Given the description of an element on the screen output the (x, y) to click on. 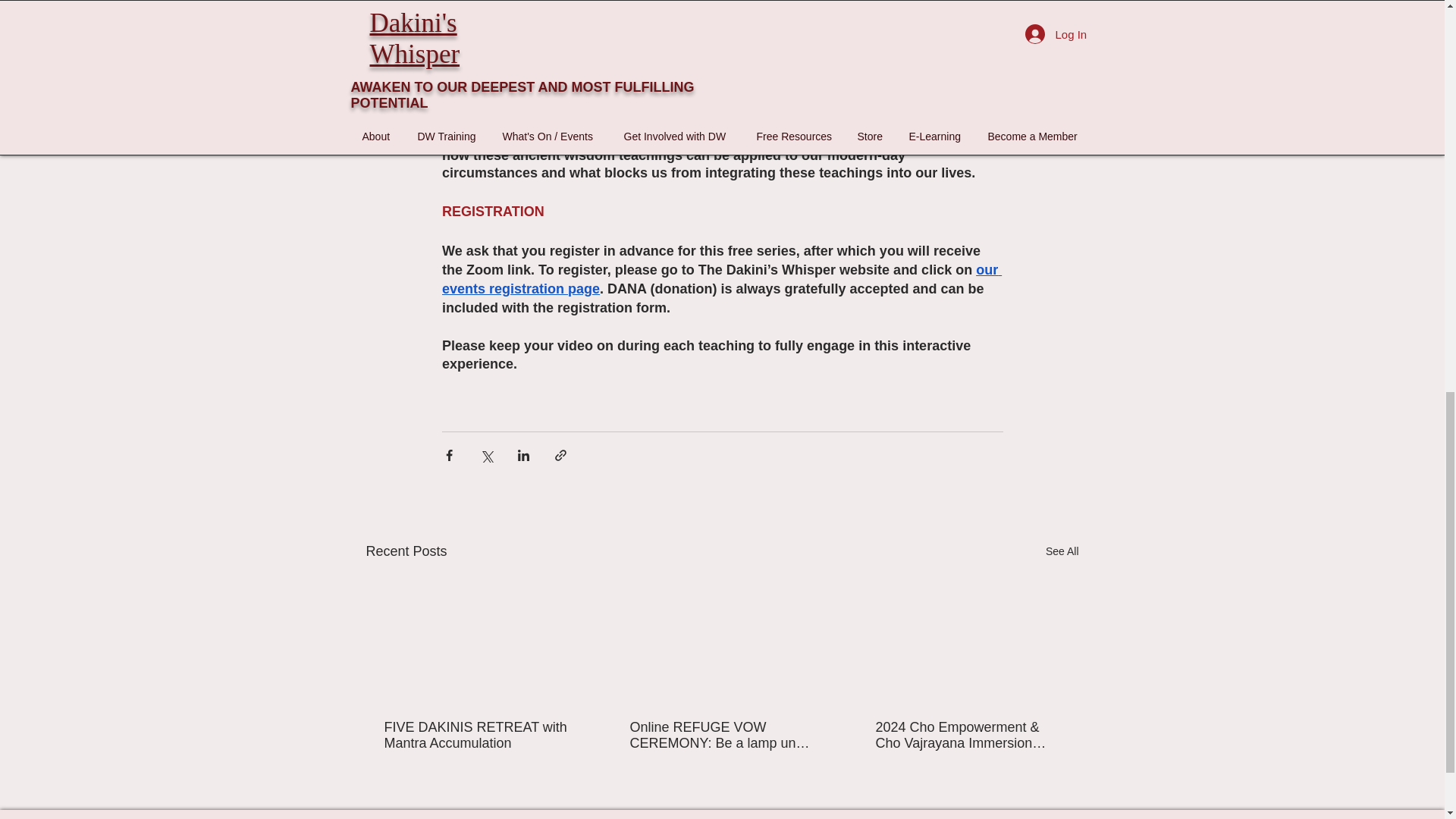
our events registration page (721, 279)
See All (1061, 551)
